Given the description of an element on the screen output the (x, y) to click on. 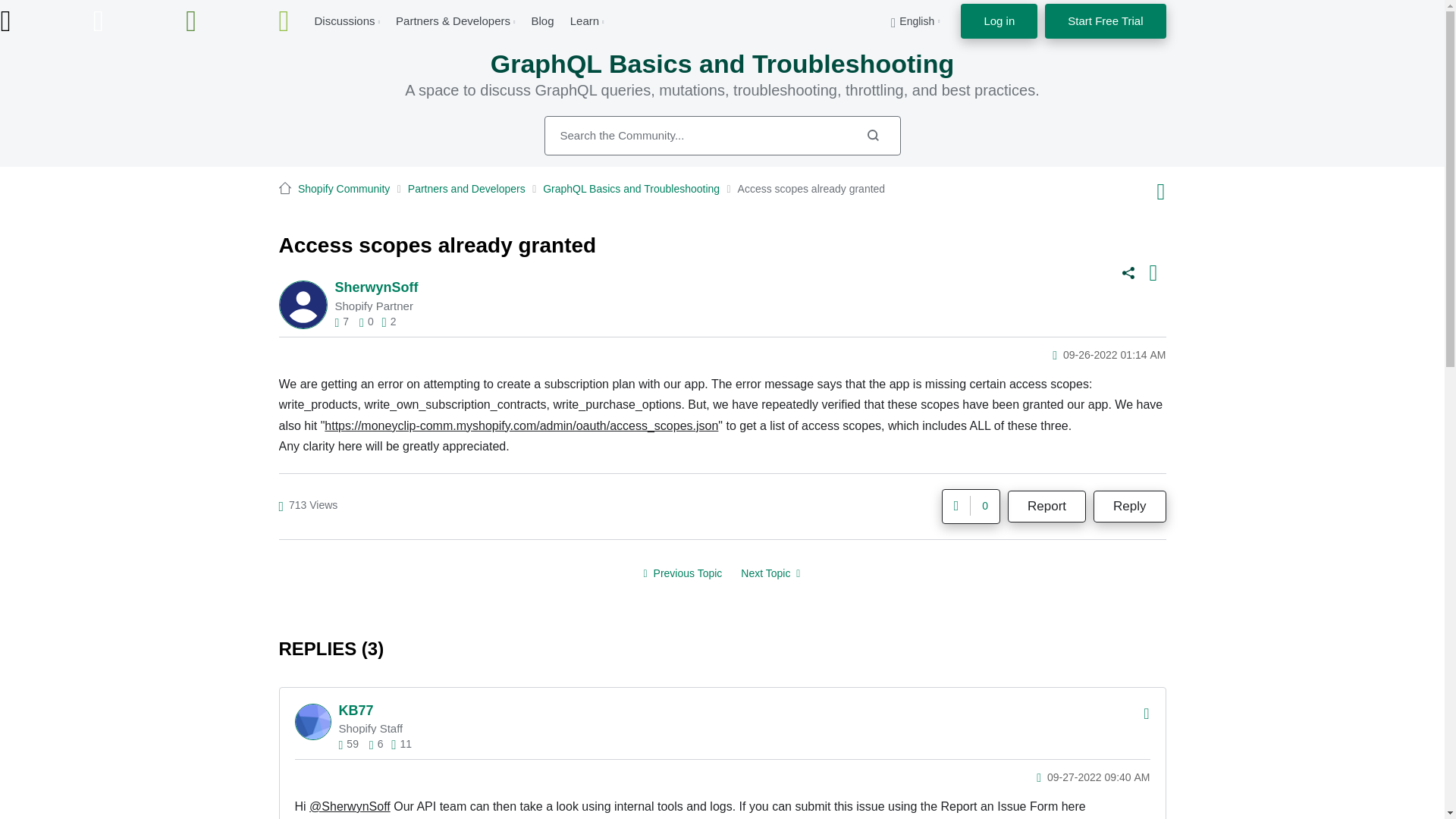
Search (872, 135)
Discussions (344, 20)
Search (872, 135)
Search (722, 135)
